Given the description of an element on the screen output the (x, y) to click on. 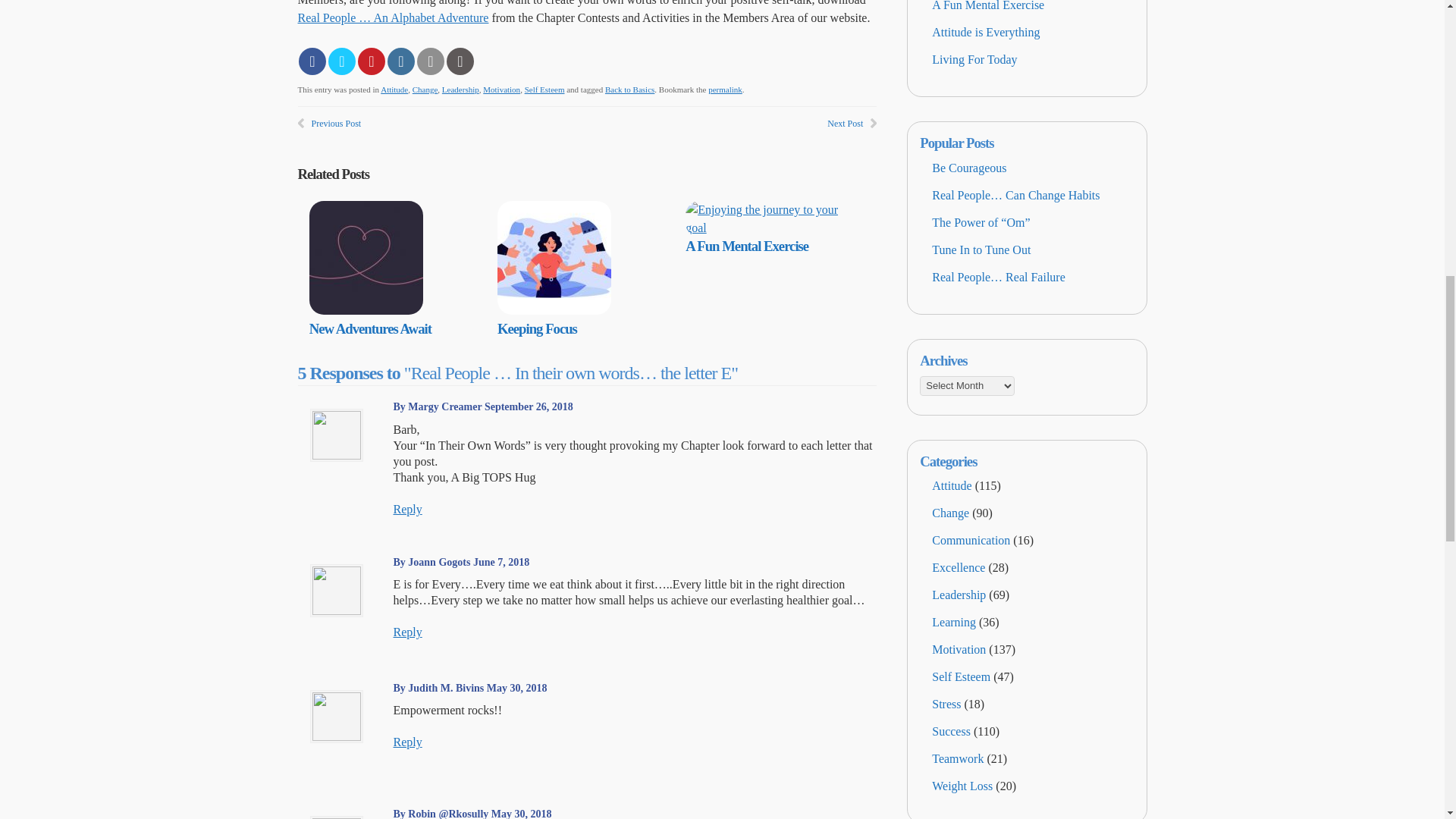
Reply (407, 741)
Attitude (393, 89)
Reply (407, 508)
Share it on Email (430, 60)
Print (460, 60)
Keeping Focus (536, 328)
A Fun Mental Exercise (767, 227)
Back to Basics (629, 89)
Share on Pinterest (371, 60)
Previous Post (336, 122)
Keeping Focus (554, 309)
New Adventures Await (365, 309)
Share on Twitter (342, 60)
A Fun Mental Exercise (746, 245)
Keeping Focus (536, 328)
